Given the description of an element on the screen output the (x, y) to click on. 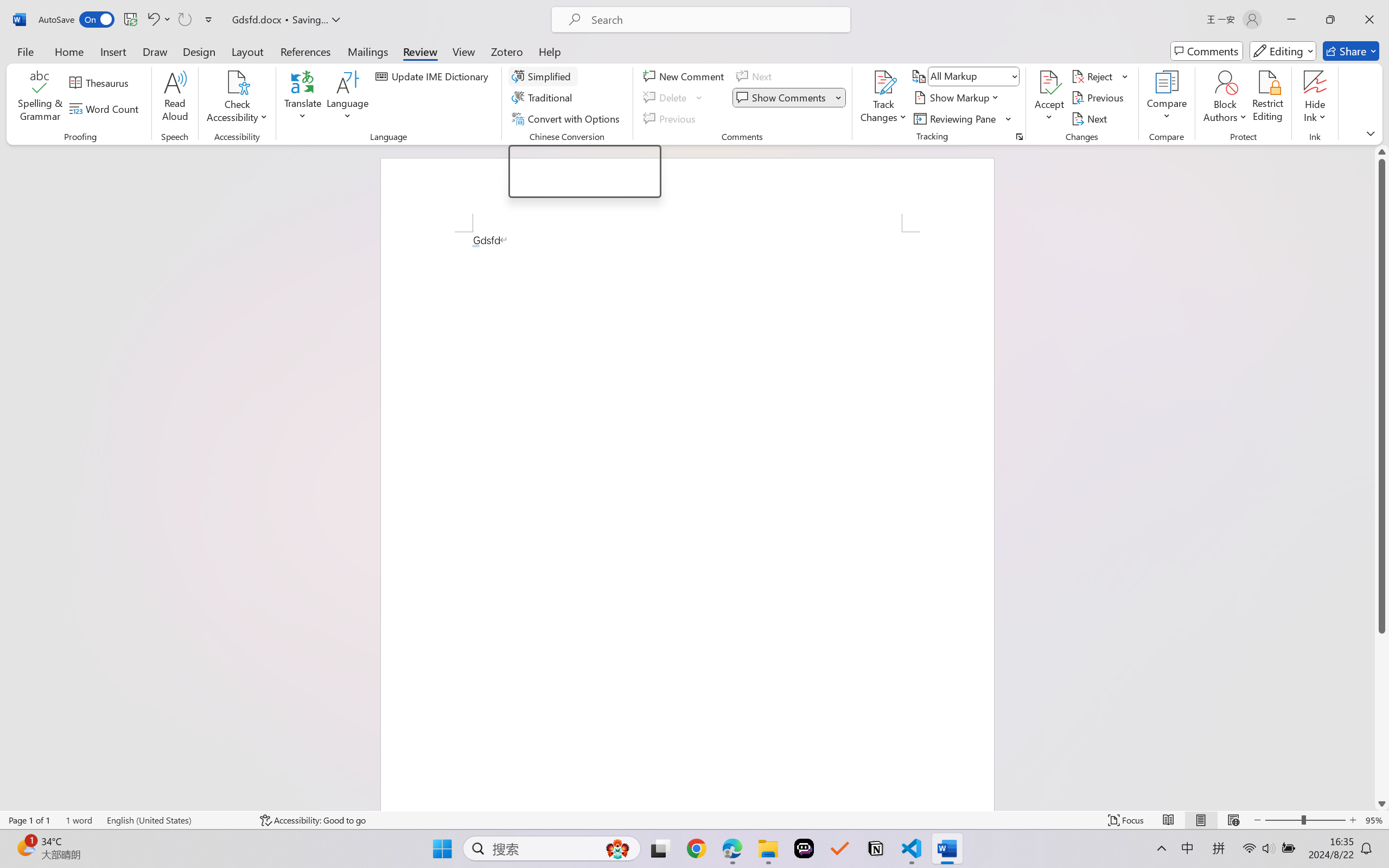
Convert with Options... (567, 118)
Track Changes (883, 97)
Line up (1382, 151)
Line down (1382, 803)
Change Tracking Options... (1019, 136)
Class: MsoCommandBar (694, 819)
Reviewing Pane (962, 118)
Block Authors (1224, 81)
Check Accessibility (237, 81)
